Given the description of an element on the screen output the (x, y) to click on. 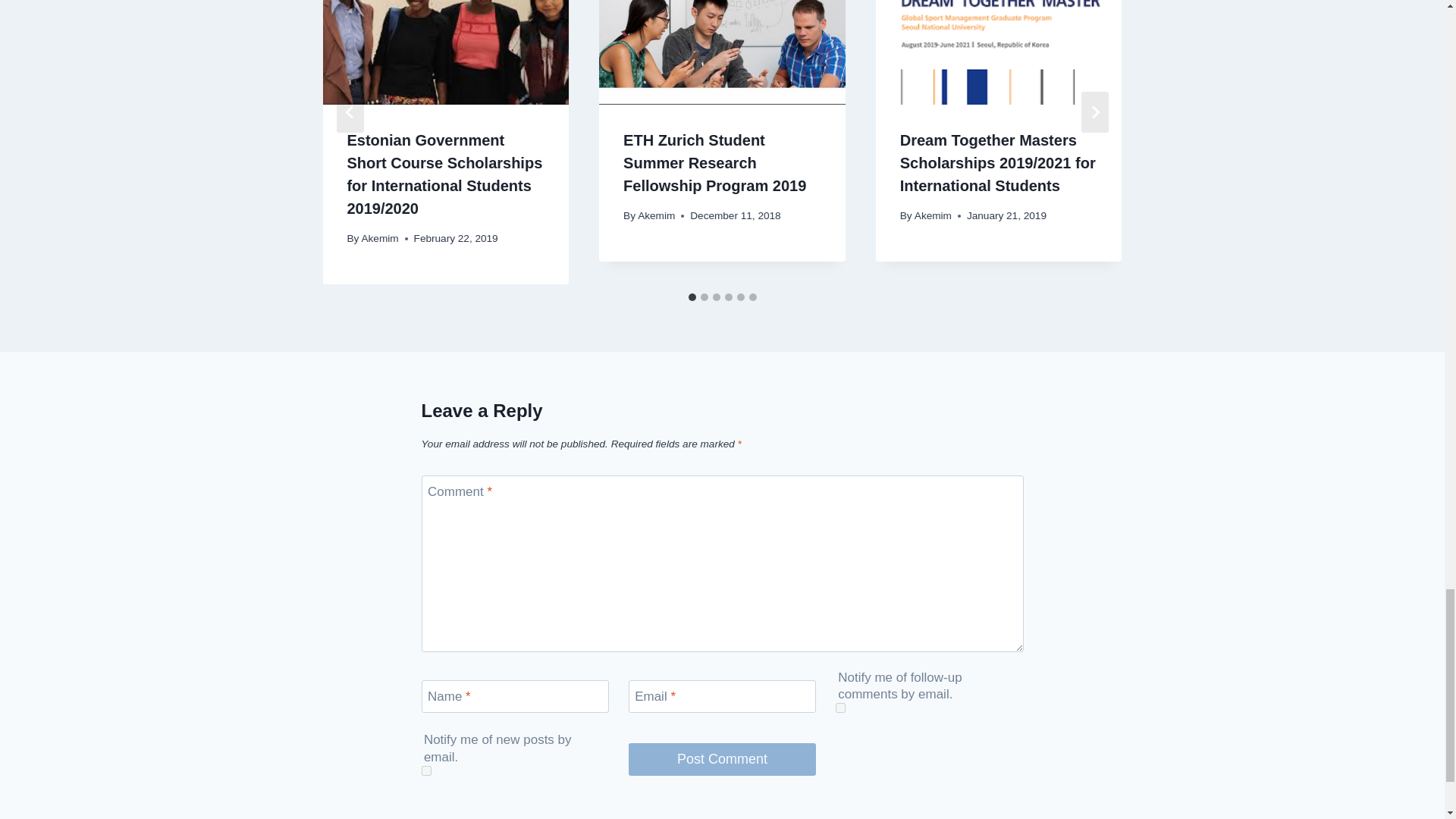
subscribe (840, 707)
Post Comment (722, 758)
subscribe (426, 770)
